Given the description of an element on the screen output the (x, y) to click on. 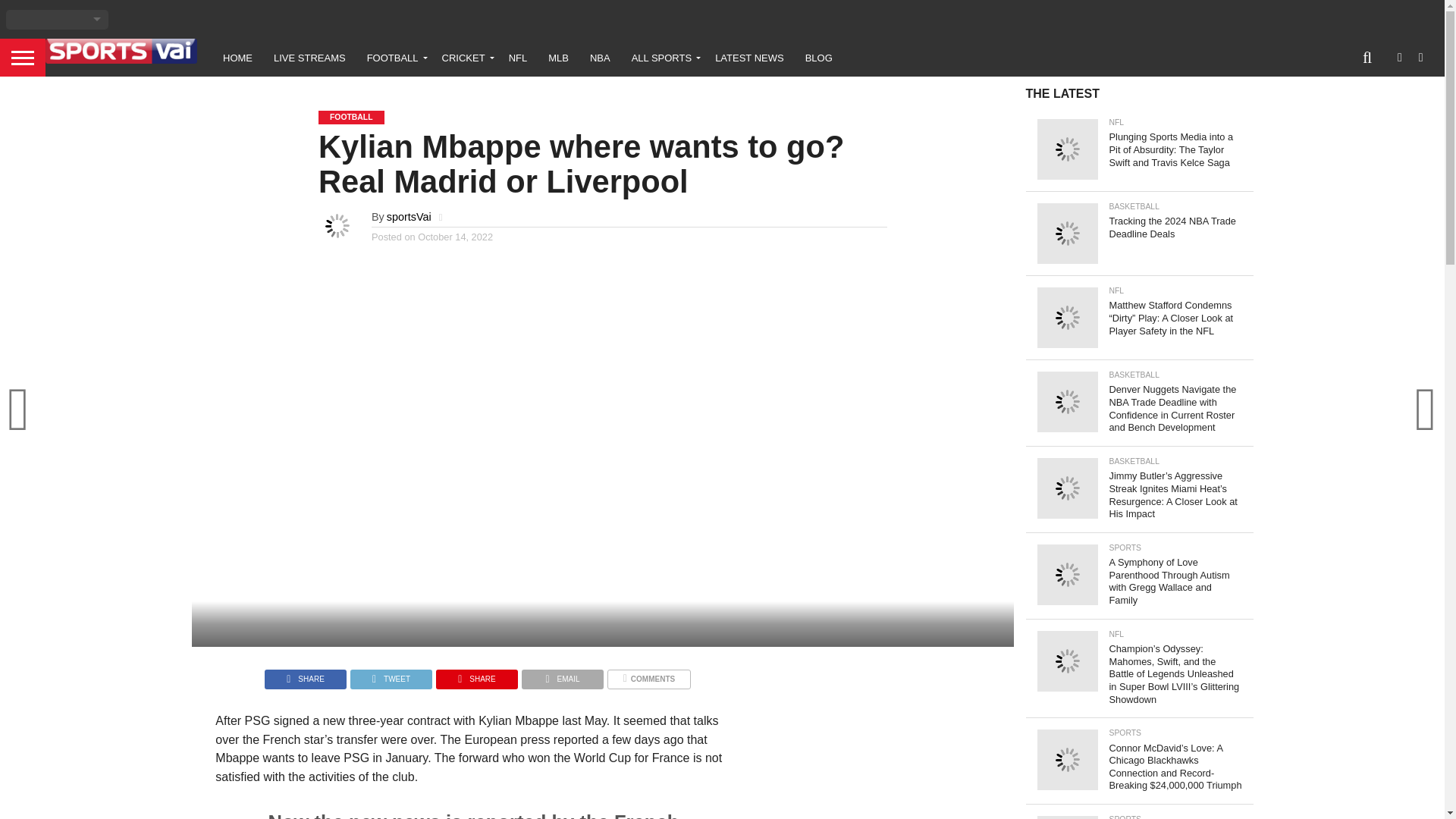
HOME (237, 57)
Tweet This Post (390, 675)
Posts by sportsVai (408, 216)
FOOTBALL (393, 57)
Pin This Post (476, 675)
LIVE STREAMS (309, 57)
Share on Facebook (305, 675)
